Given the description of an element on the screen output the (x, y) to click on. 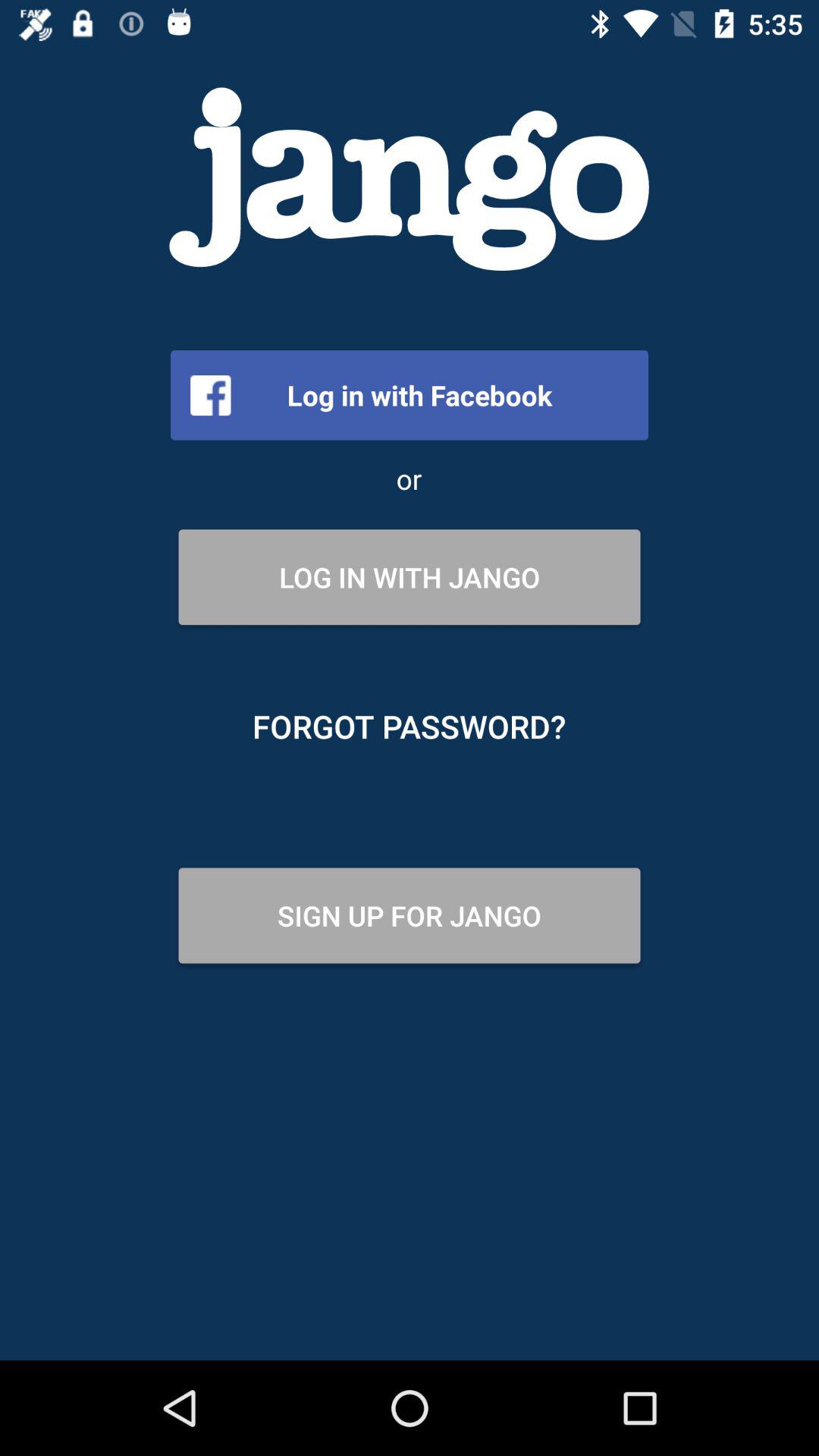
swipe until sign up for icon (409, 915)
